Given the description of an element on the screen output the (x, y) to click on. 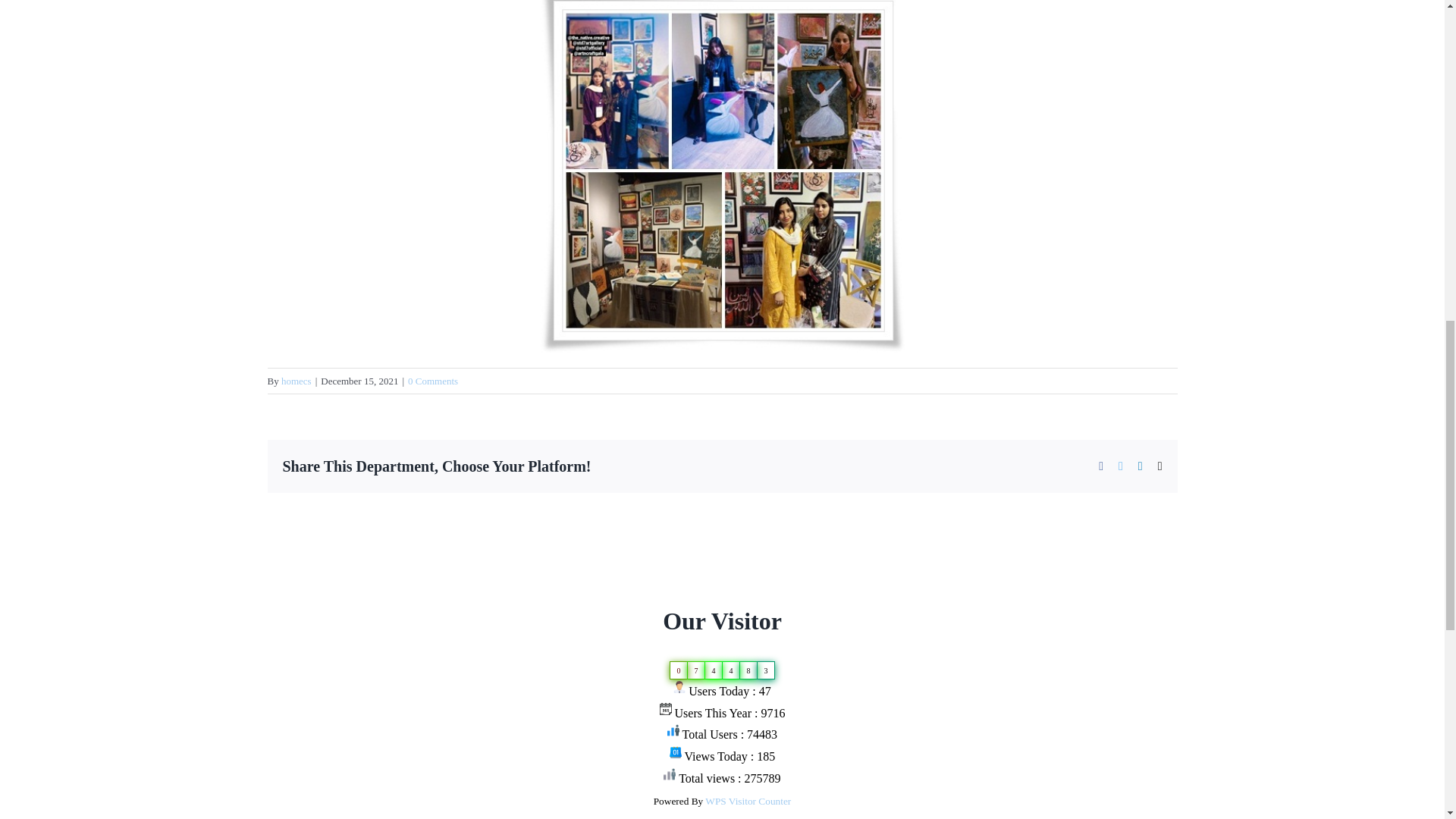
Posts by homecs (296, 379)
